Given the description of an element on the screen output the (x, y) to click on. 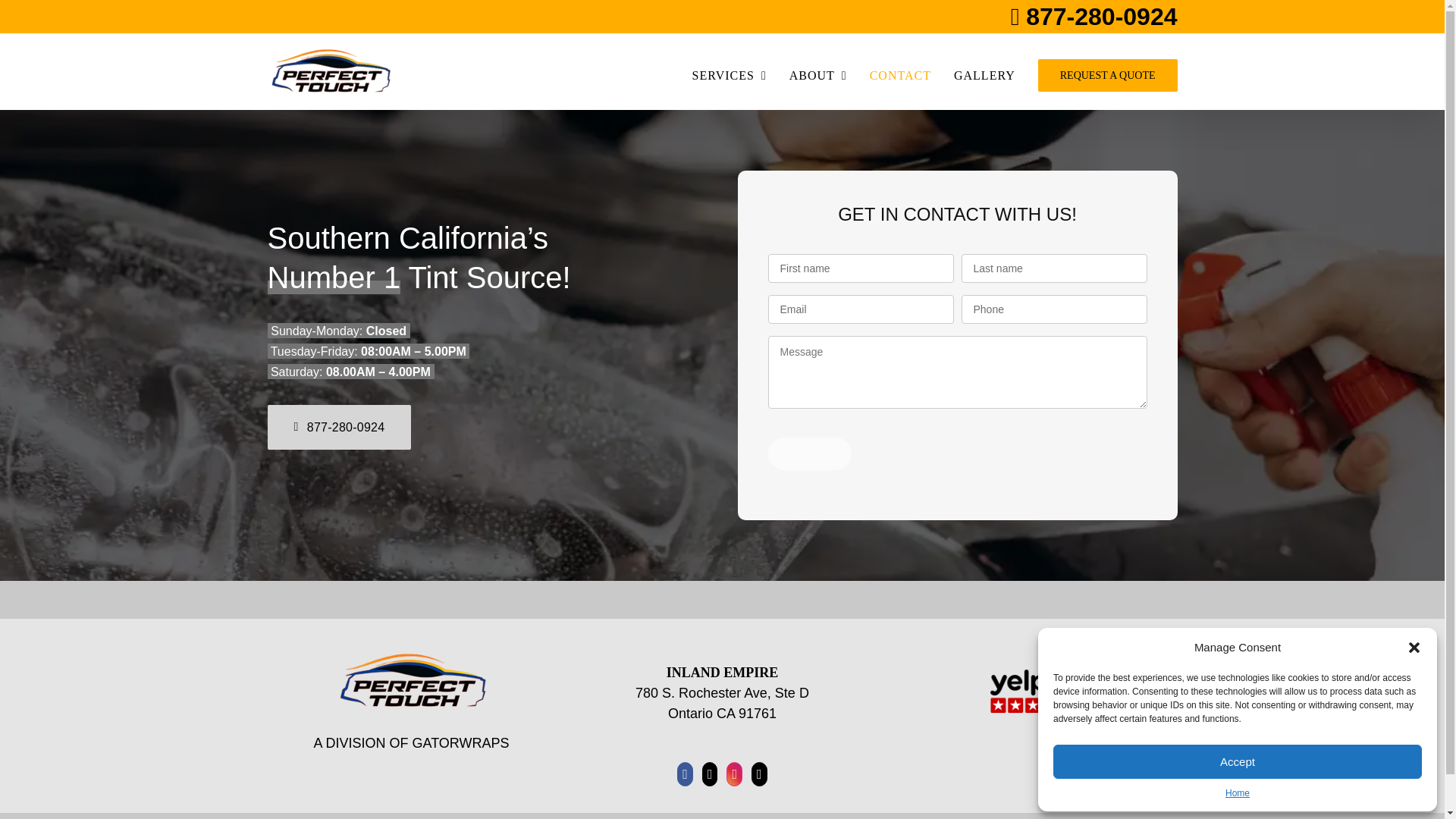
SERVICES (730, 75)
Home (1237, 793)
ABOUT (818, 75)
Submit (809, 453)
REQUEST A QUOTE (1107, 75)
CONTACT (900, 75)
Accept (1237, 761)
GALLERY (983, 75)
